Given the description of an element on the screen output the (x, y) to click on. 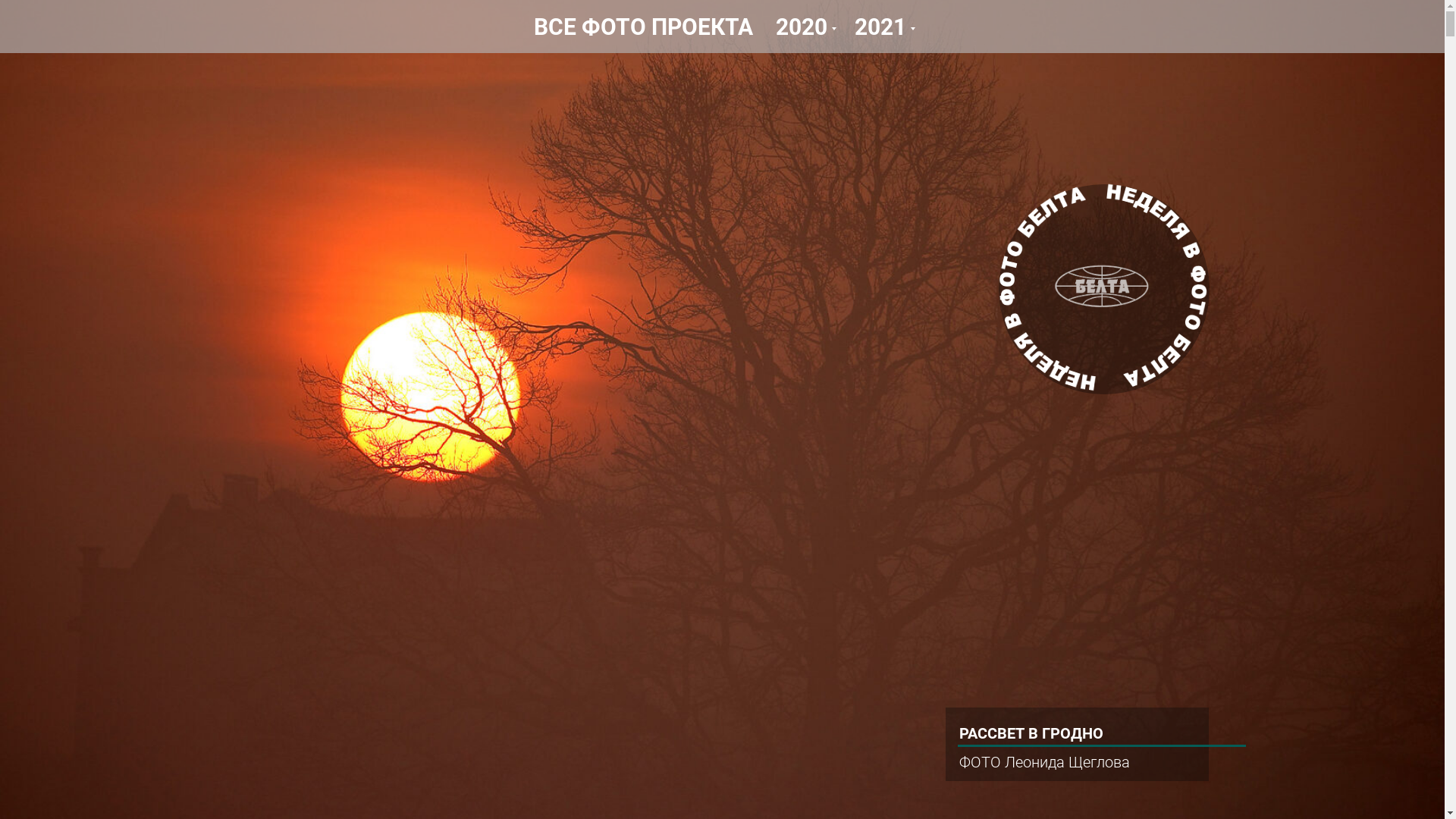
2020 Element type: text (803, 26)
2021 Element type: text (882, 26)
